Given the description of an element on the screen output the (x, y) to click on. 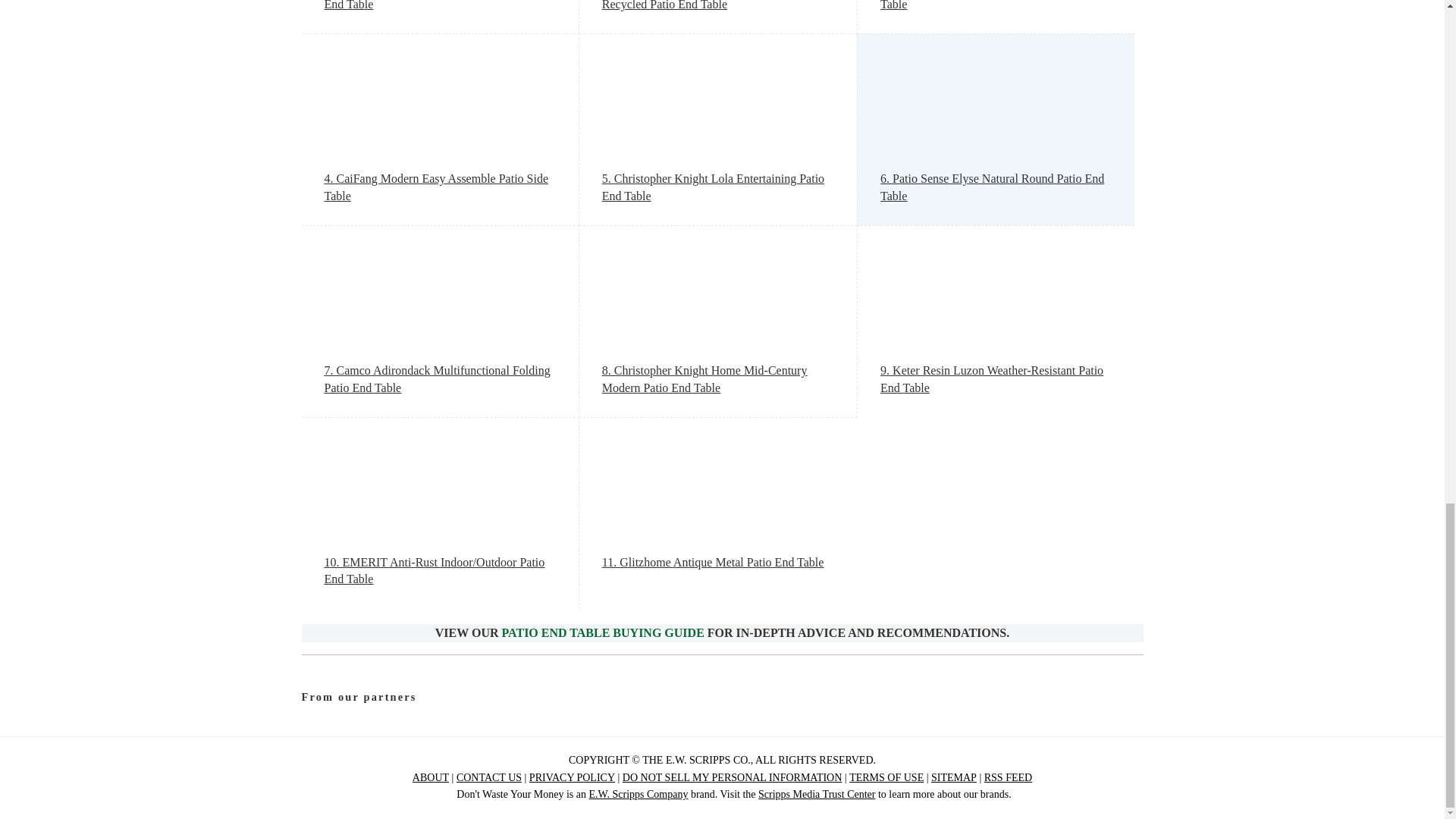
3. Grand Patio Stain Resistant Chic Patio End Table (996, 6)
2. POLYWOOD ECT18BL Fade-Resistant Recycled Patio End Table (718, 6)
1. danpinera Anti-Rust UV-Protection Patio End Table (440, 6)
